Given the description of an element on the screen output the (x, y) to click on. 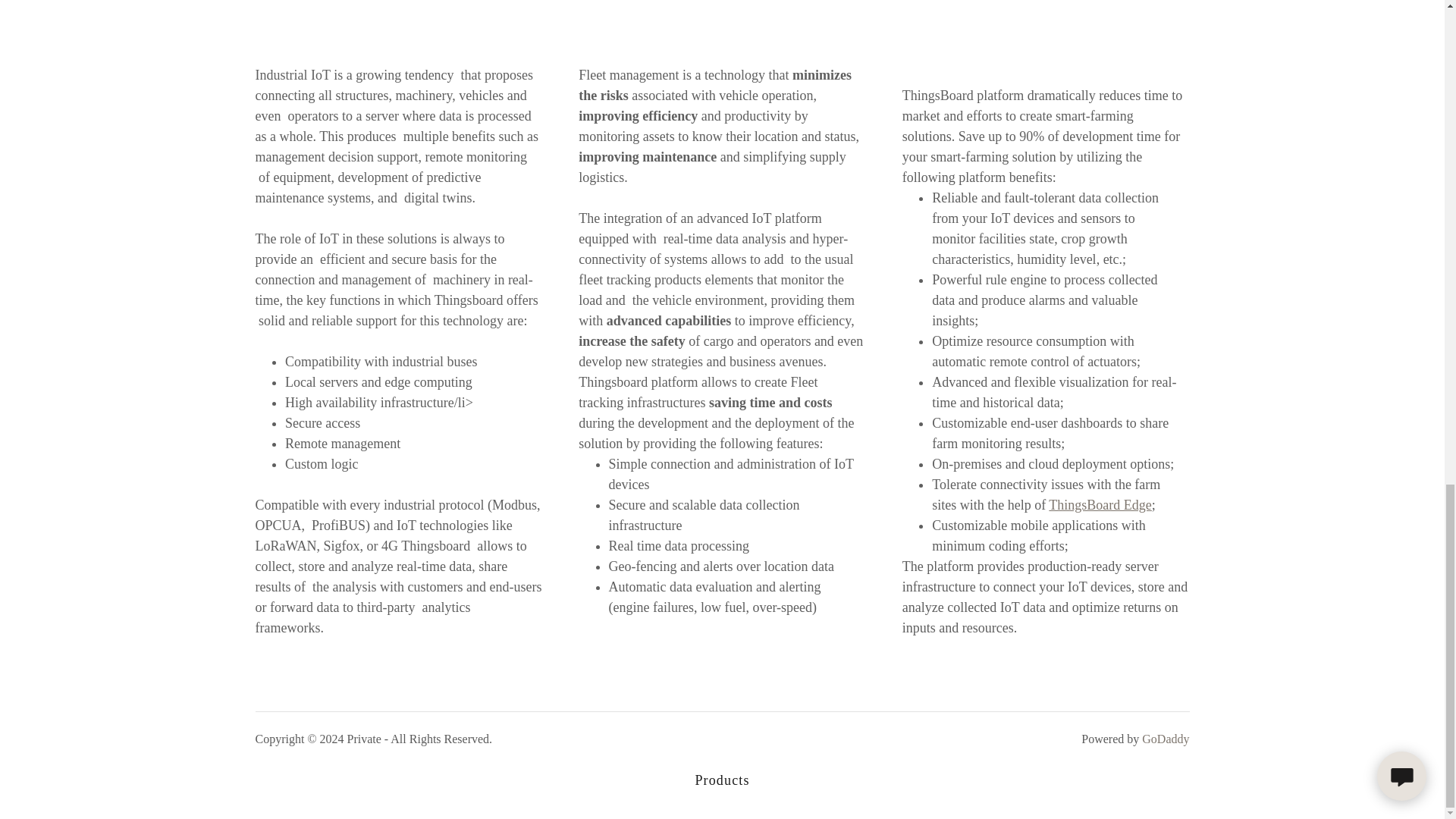
ThingsBoard Edge (1099, 504)
GoDaddy (1165, 738)
Products (721, 780)
